Given the description of an element on the screen output the (x, y) to click on. 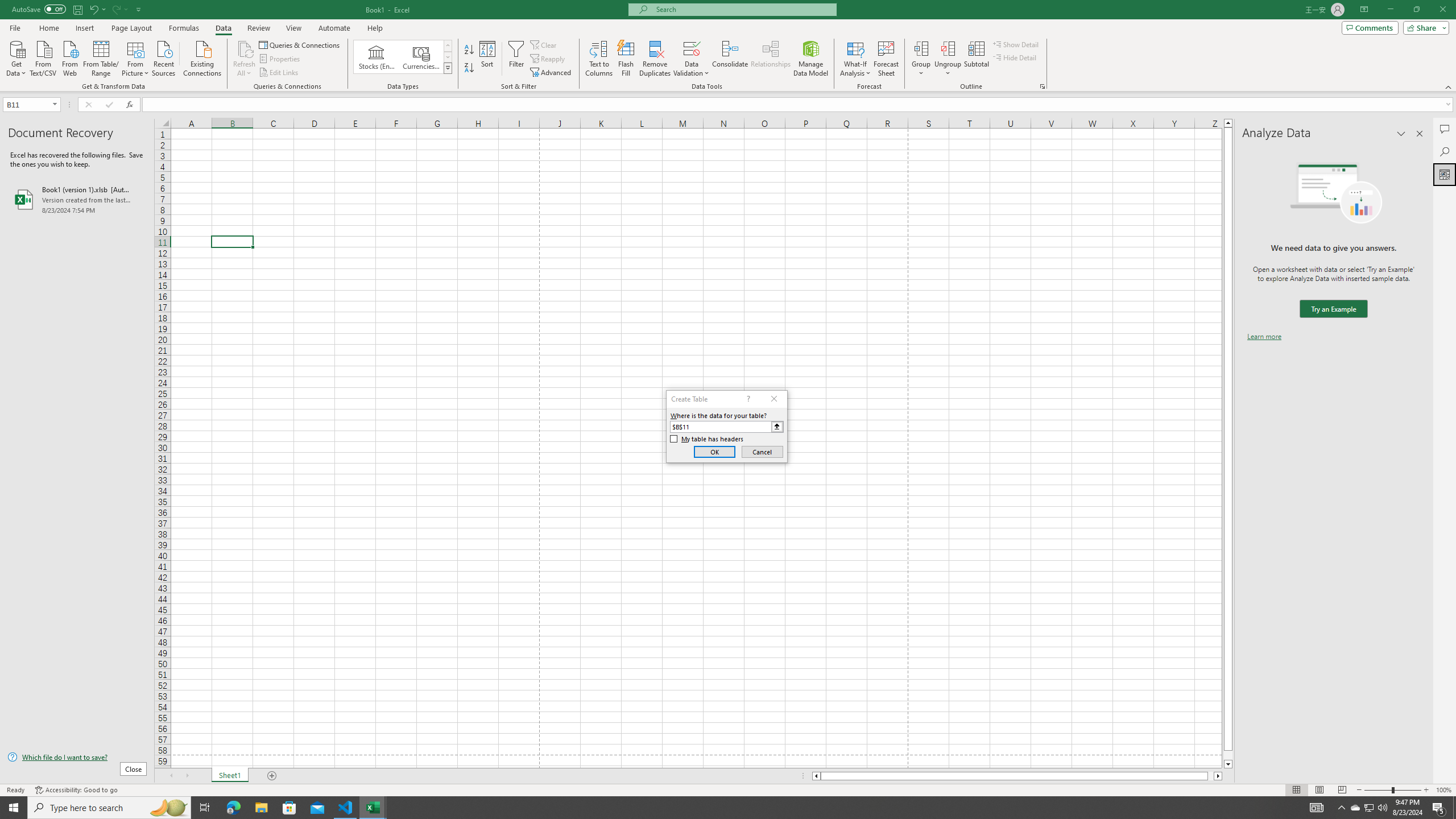
Restore Down (1416, 9)
Comments (1369, 27)
Group and Outline Settings (1042, 85)
Queries & Connections (300, 44)
Reapply (548, 58)
What-If Analysis (855, 58)
Add Sheet (272, 775)
Help (374, 28)
Review (258, 28)
Search (1444, 151)
Ungroup... (947, 48)
Zoom (1392, 790)
From Web (69, 57)
Column right (1218, 775)
From Picture (135, 57)
